Given the description of an element on the screen output the (x, y) to click on. 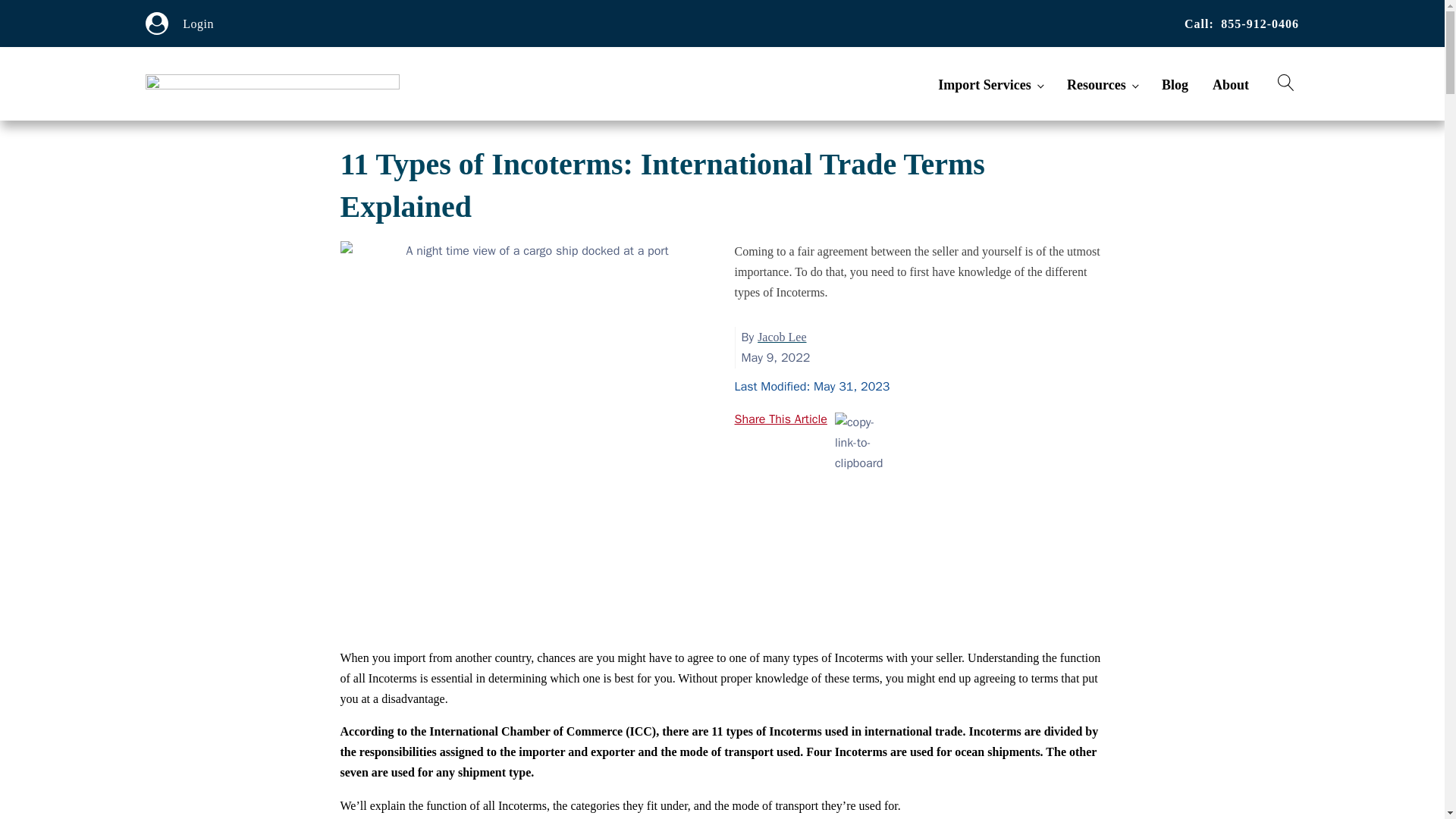
Import Services (995, 84)
Jacob Lee (781, 336)
855-912-0406 (1259, 23)
Login (198, 23)
Search (25, 9)
Resources (1108, 84)
About (1236, 84)
Blog (1180, 84)
